Given the description of an element on the screen output the (x, y) to click on. 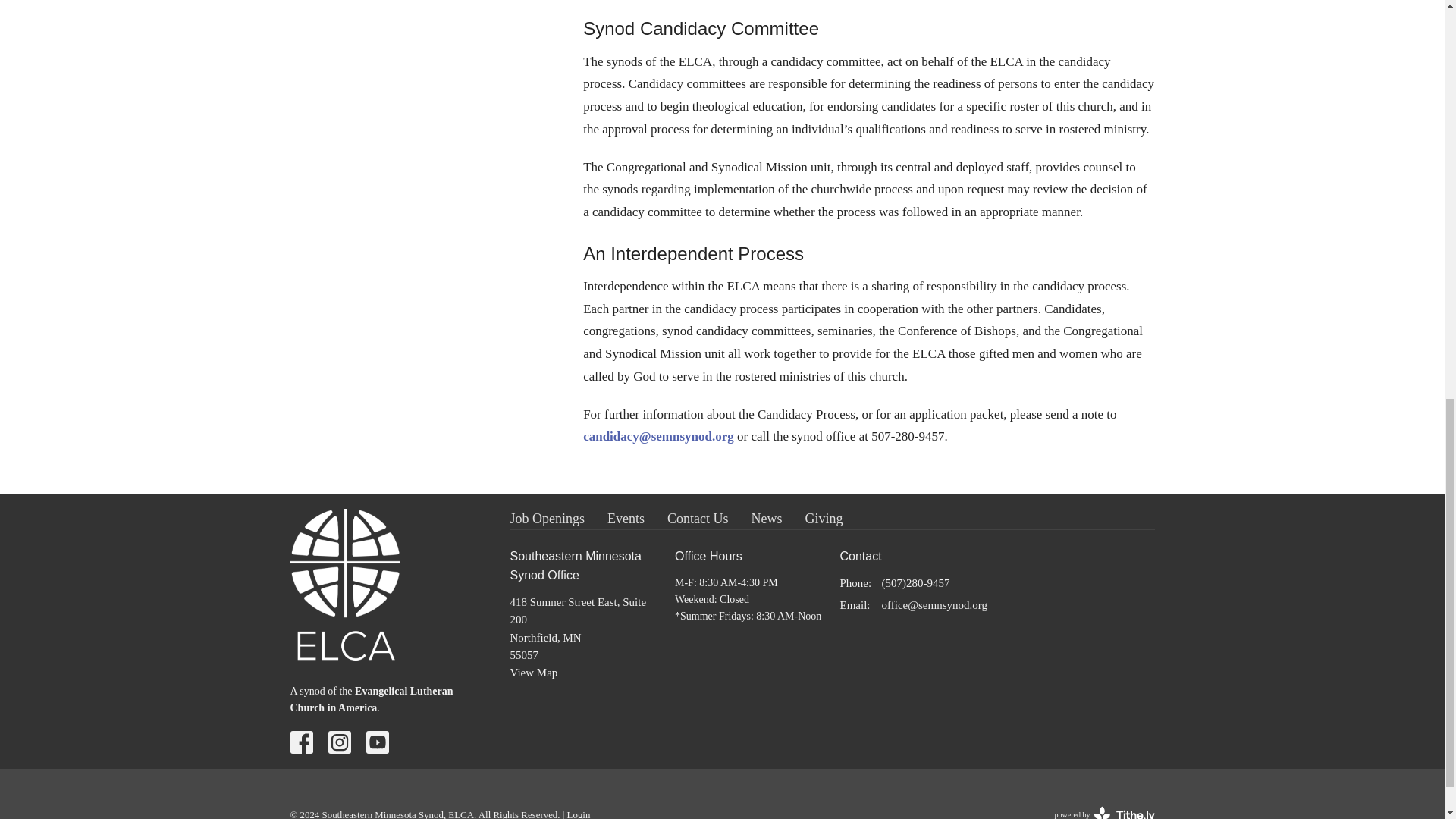
News (766, 518)
Evangelical Lutheran Church in America (370, 699)
Contact Us (697, 518)
Giving (824, 518)
Job Openings (1104, 801)
View Map (547, 518)
Login (533, 672)
translation missing: en.ui.email (579, 814)
Events (853, 604)
